Given the description of an element on the screen output the (x, y) to click on. 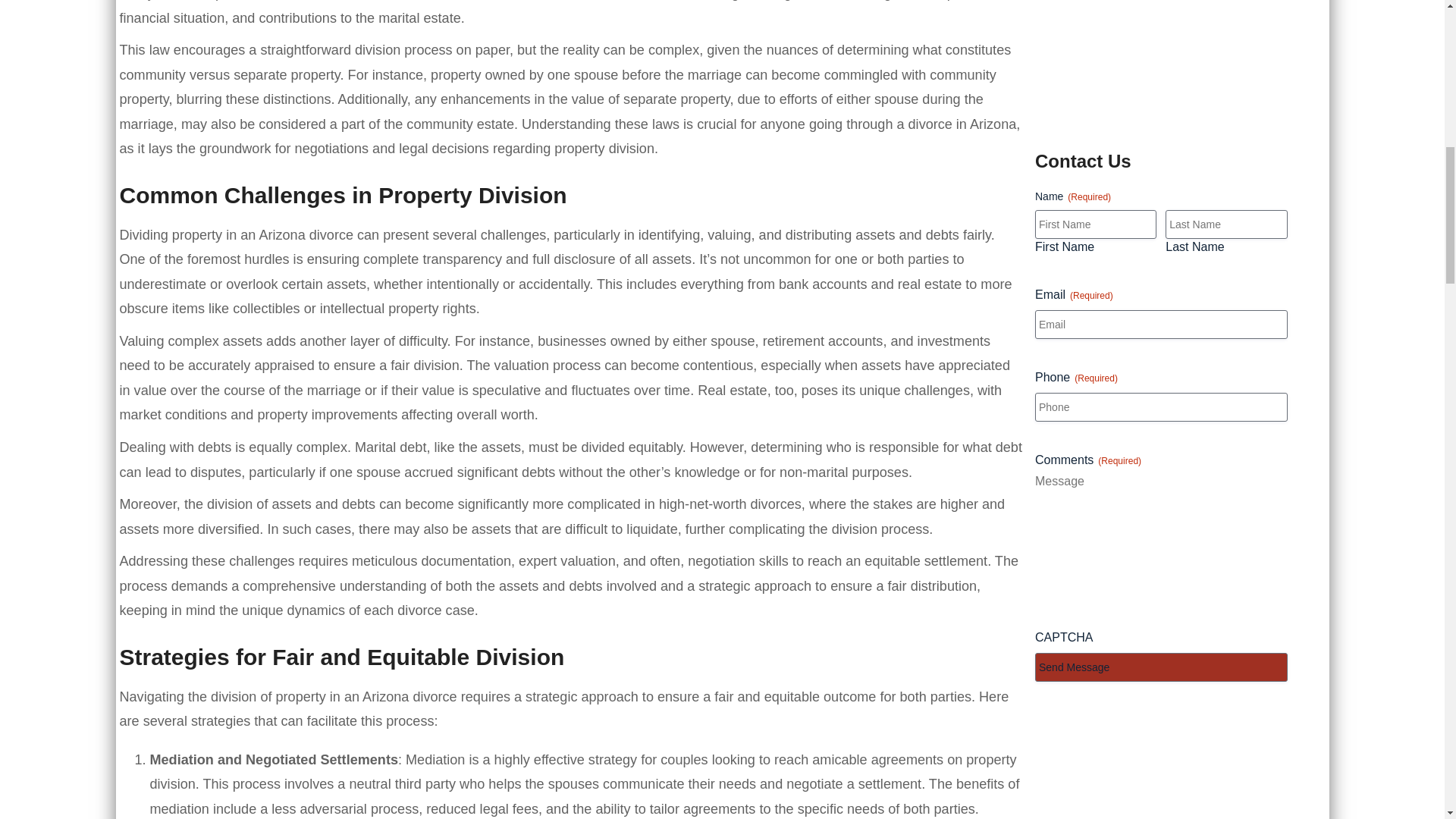
Send Message (1161, 666)
